Given the description of an element on the screen output the (x, y) to click on. 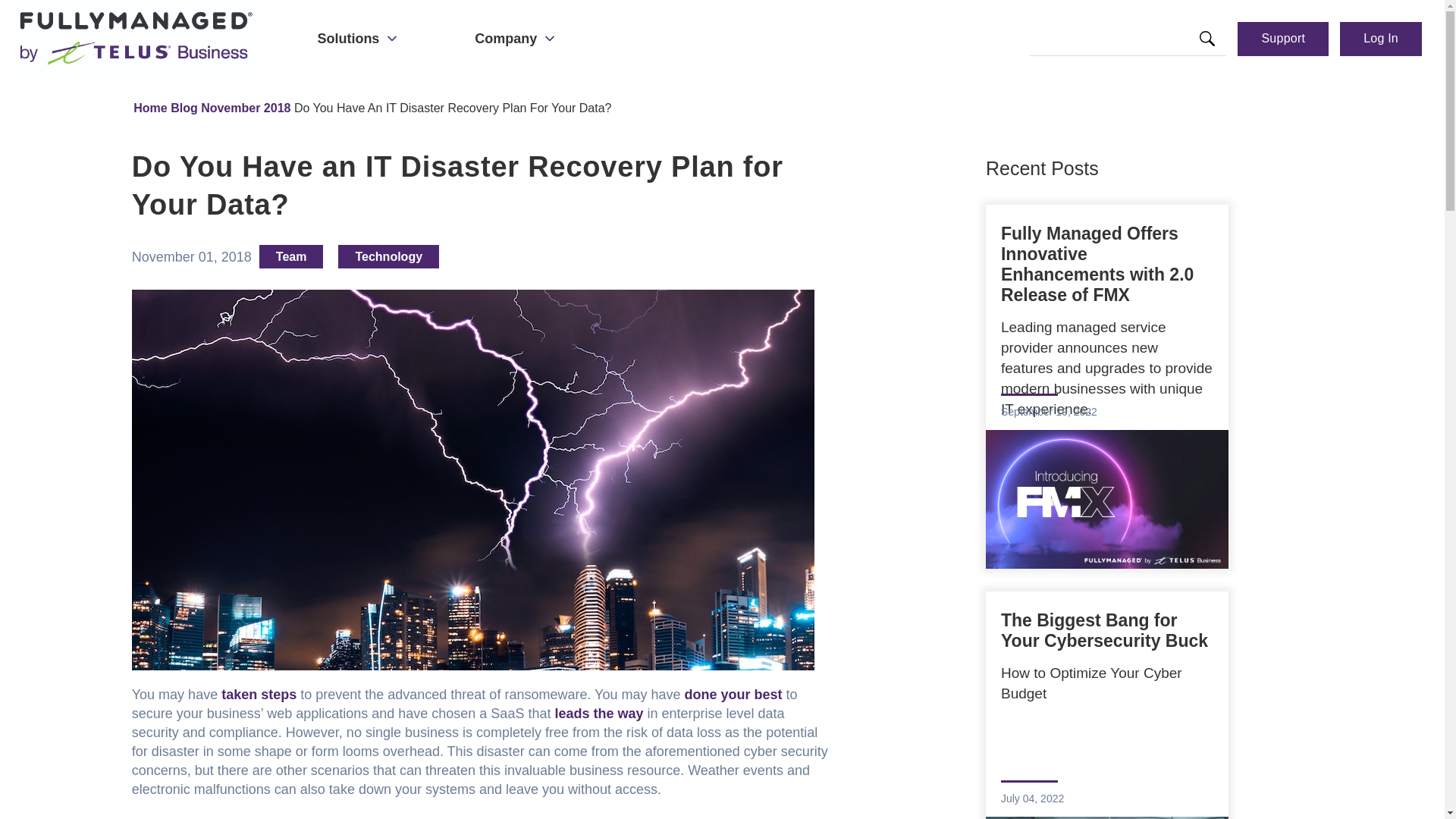
Solutions (358, 38)
Search (1206, 38)
Company (516, 38)
